Given the description of an element on the screen output the (x, y) to click on. 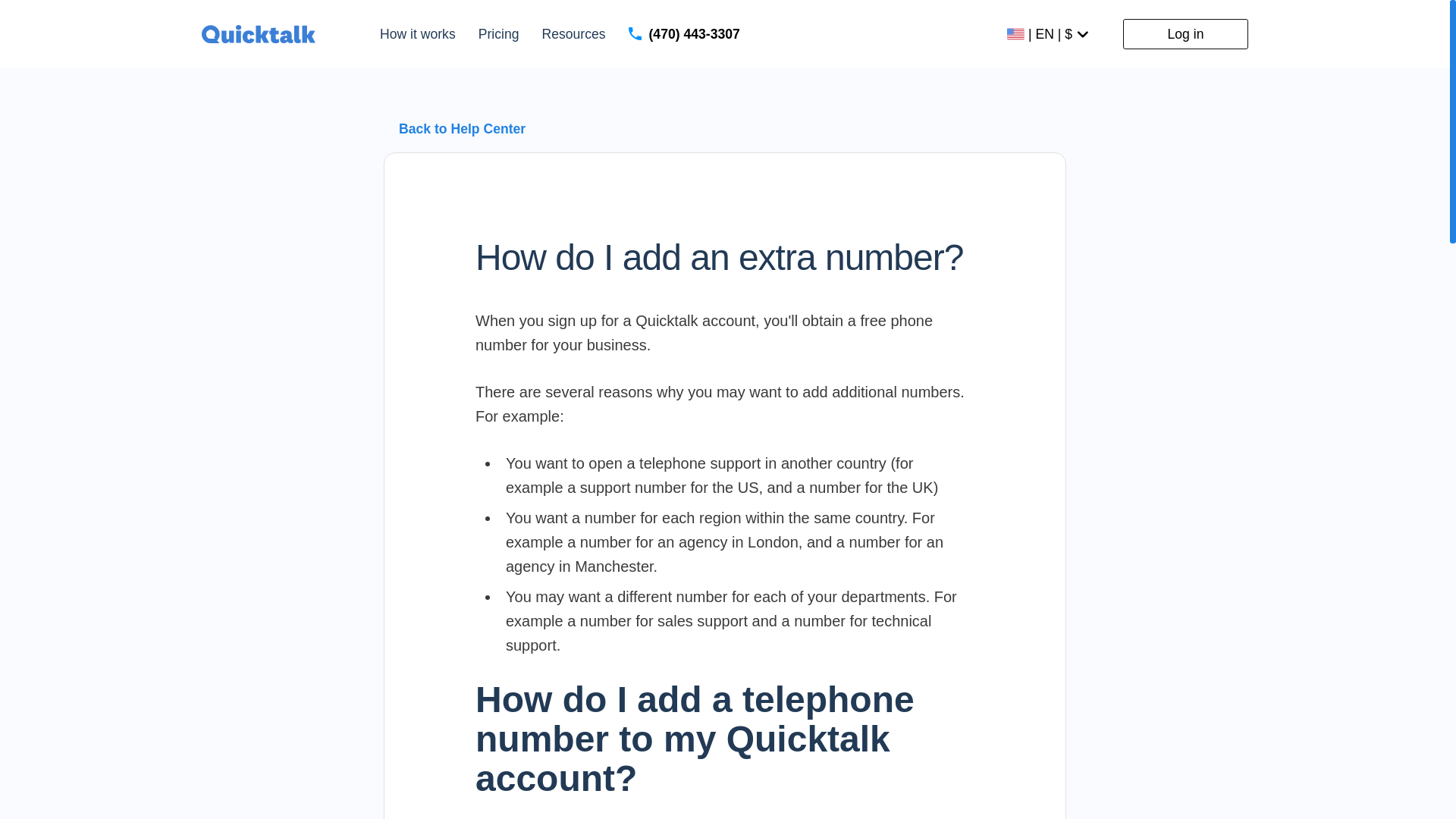
Back to Help Center (461, 129)
Pricing (499, 35)
Resources (573, 35)
How it works (417, 35)
Log in (1184, 33)
Back to Help Center (462, 128)
